Given the description of an element on the screen output the (x, y) to click on. 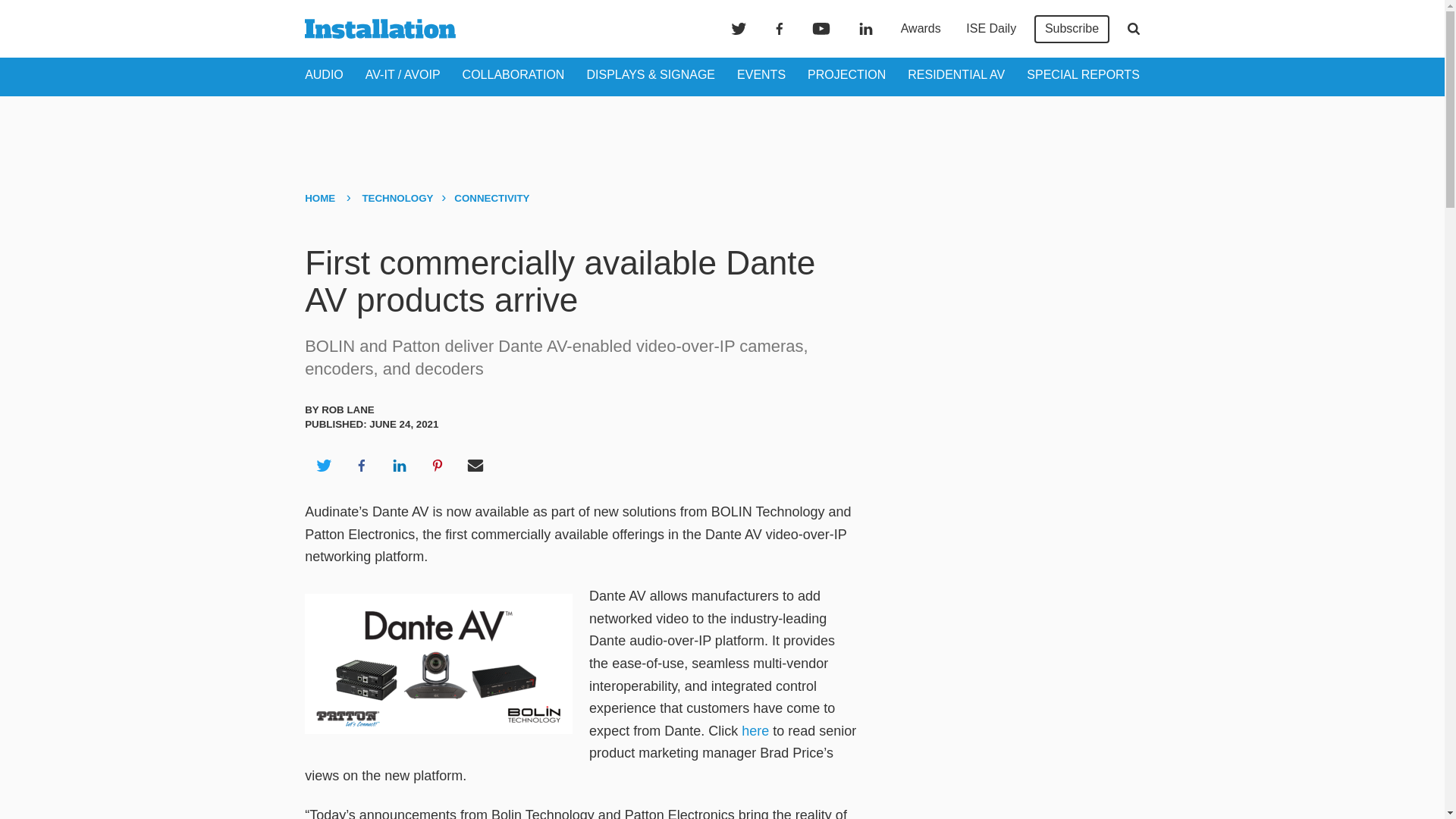
Rob Lane's Author Profile (347, 409)
Subscribe (1071, 29)
Share on Pinterest (438, 465)
Share via Email (476, 465)
Share on Facebook (361, 465)
Share on LinkedIn (399, 465)
COLLABORATION (513, 74)
Awards (921, 29)
Share on Twitter (323, 465)
ISE Daily (990, 29)
